Given the description of an element on the screen output the (x, y) to click on. 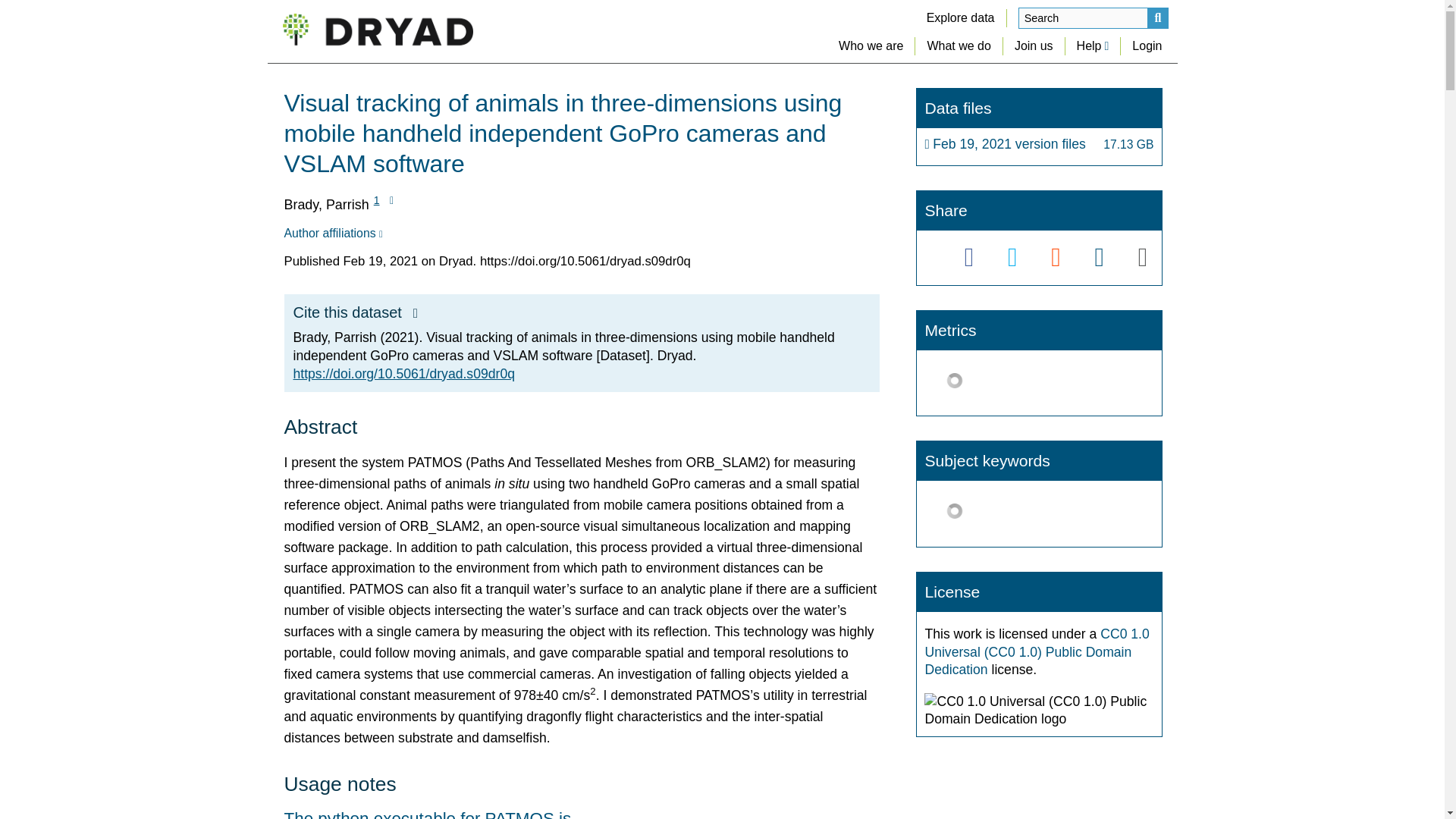
Who we are (870, 45)
Author affiliations (332, 233)
